Given the description of an element on the screen output the (x, y) to click on. 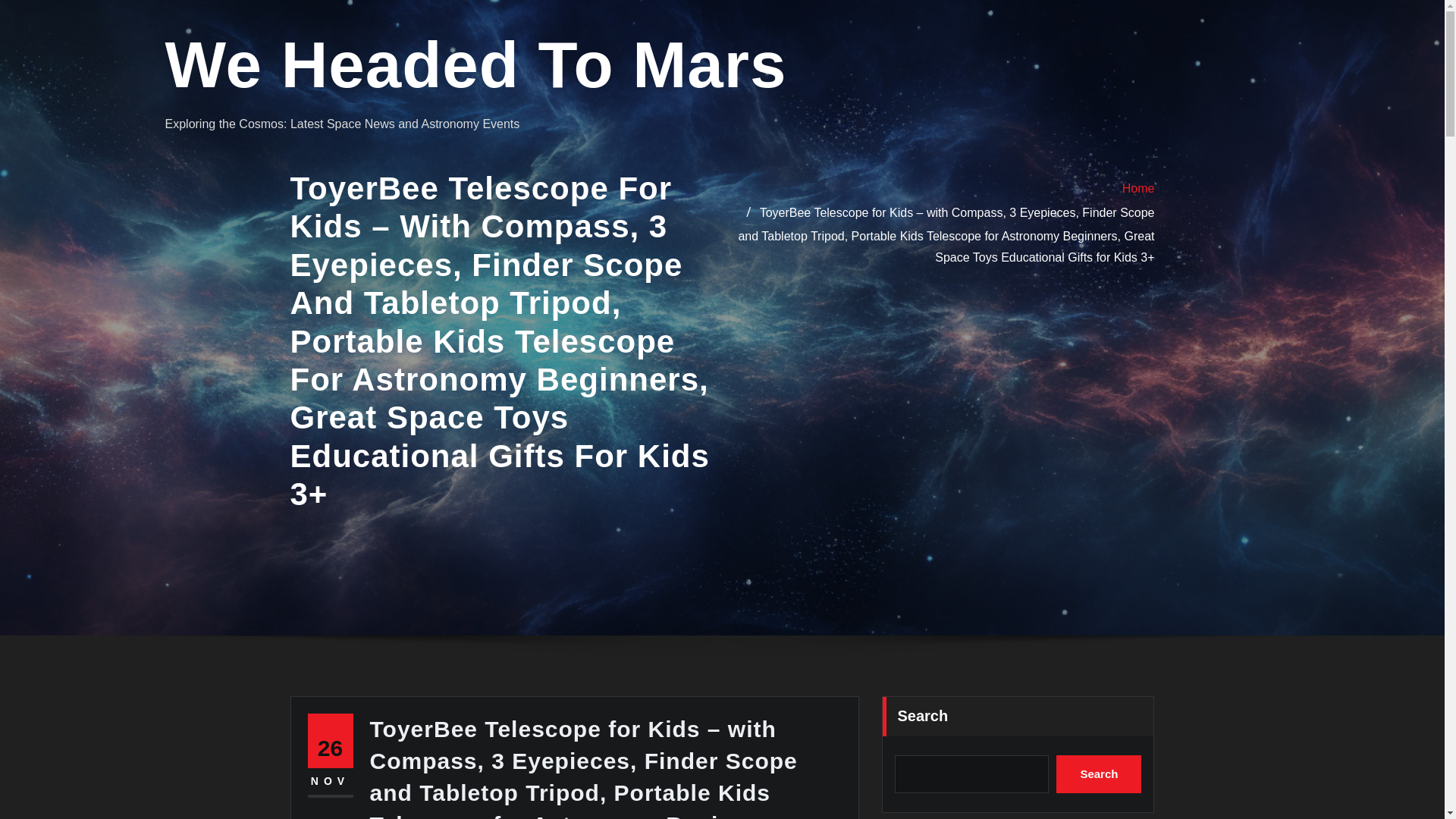
Search (1099, 774)
We Headed To Mars (476, 64)
Home (1138, 187)
